Given the description of an element on the screen output the (x, y) to click on. 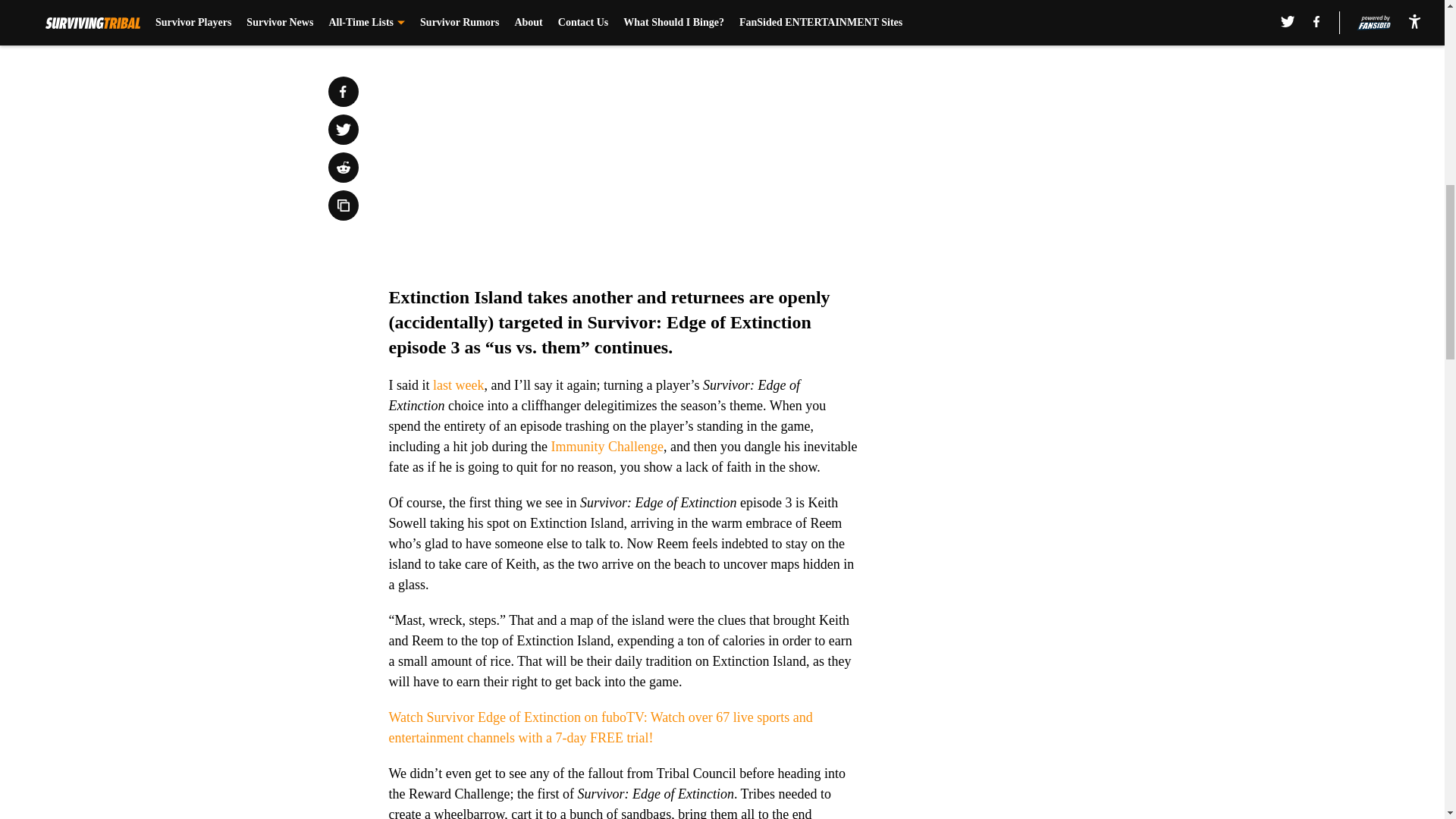
last week (457, 385)
Immunity Challenge (606, 446)
